Given the description of an element on the screen output the (x, y) to click on. 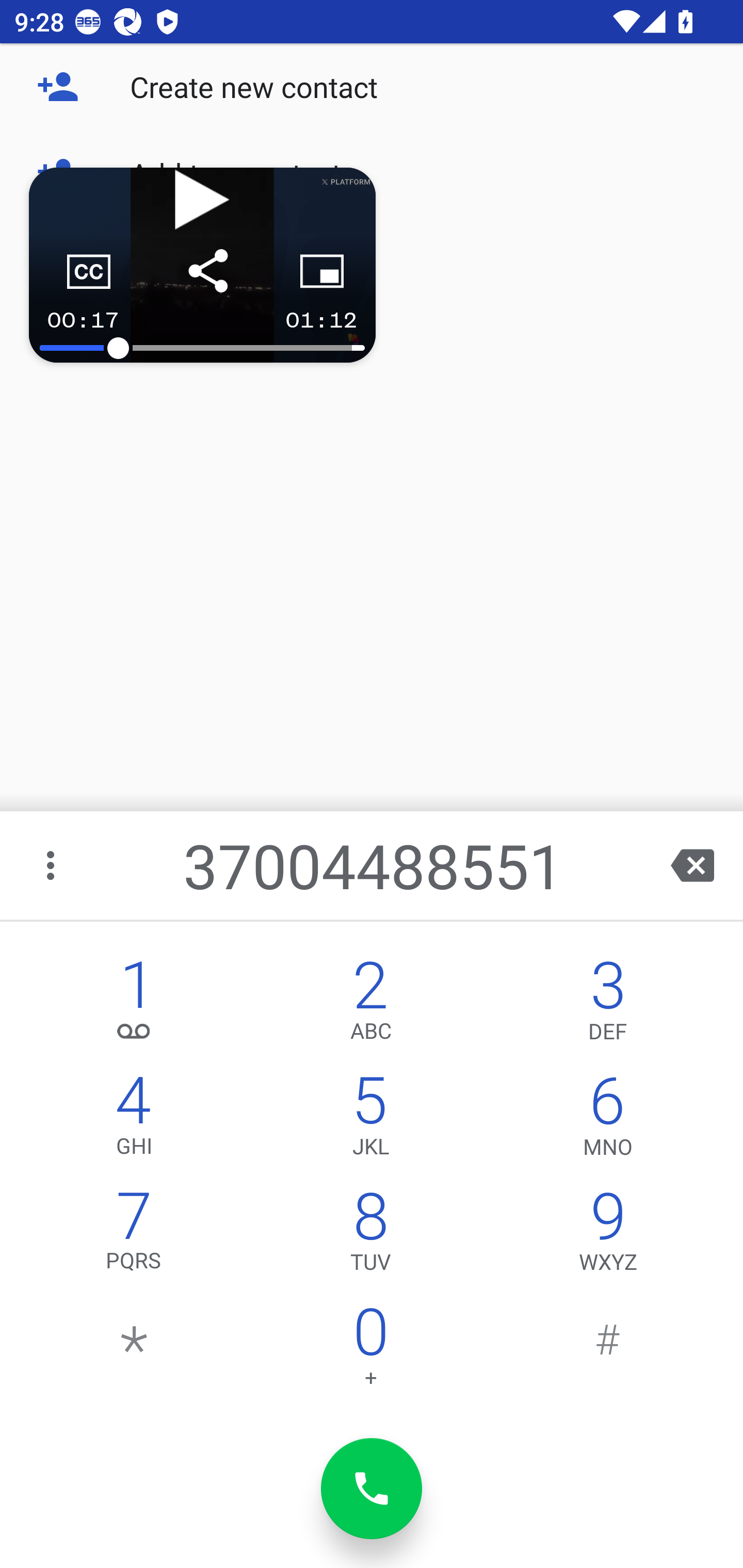
Create new contact (371, 86)
37004488551 (372, 865)
backspace (692, 865)
More options (52, 865)
1, 1 (133, 1005)
2,ABC 2 ABC (370, 1005)
3,DEF 3 DEF (607, 1005)
4,GHI 4 GHI (133, 1120)
5,JKL 5 JKL (370, 1120)
6,MNO 6 MNO (607, 1120)
7,PQRS 7 PQRS (133, 1235)
8,TUV 8 TUV (370, 1235)
9,WXYZ 9 WXYZ (607, 1235)
* (133, 1351)
0 0 + (370, 1351)
# (607, 1351)
dial (371, 1488)
